Given the description of an element on the screen output the (x, y) to click on. 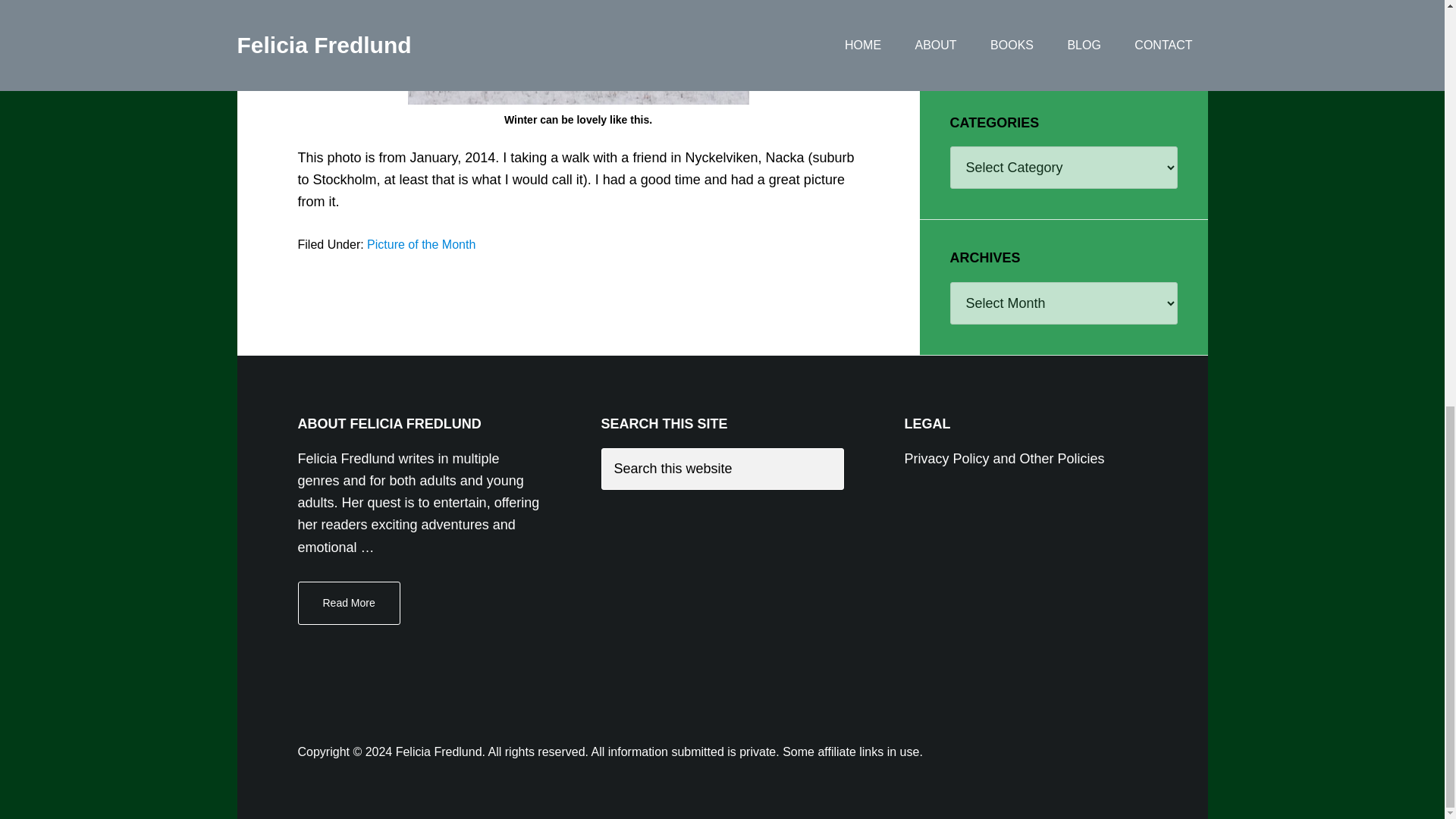
Picture of the Month (421, 244)
Privacy Policy and Other Policies (1003, 458)
